Given the description of an element on the screen output the (x, y) to click on. 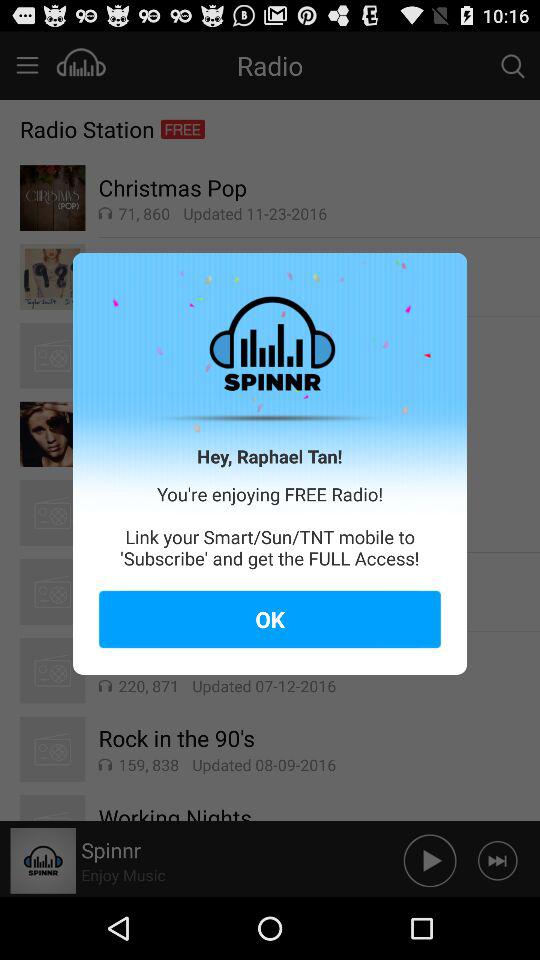
select ok button (269, 619)
